Given the description of an element on the screen output the (x, y) to click on. 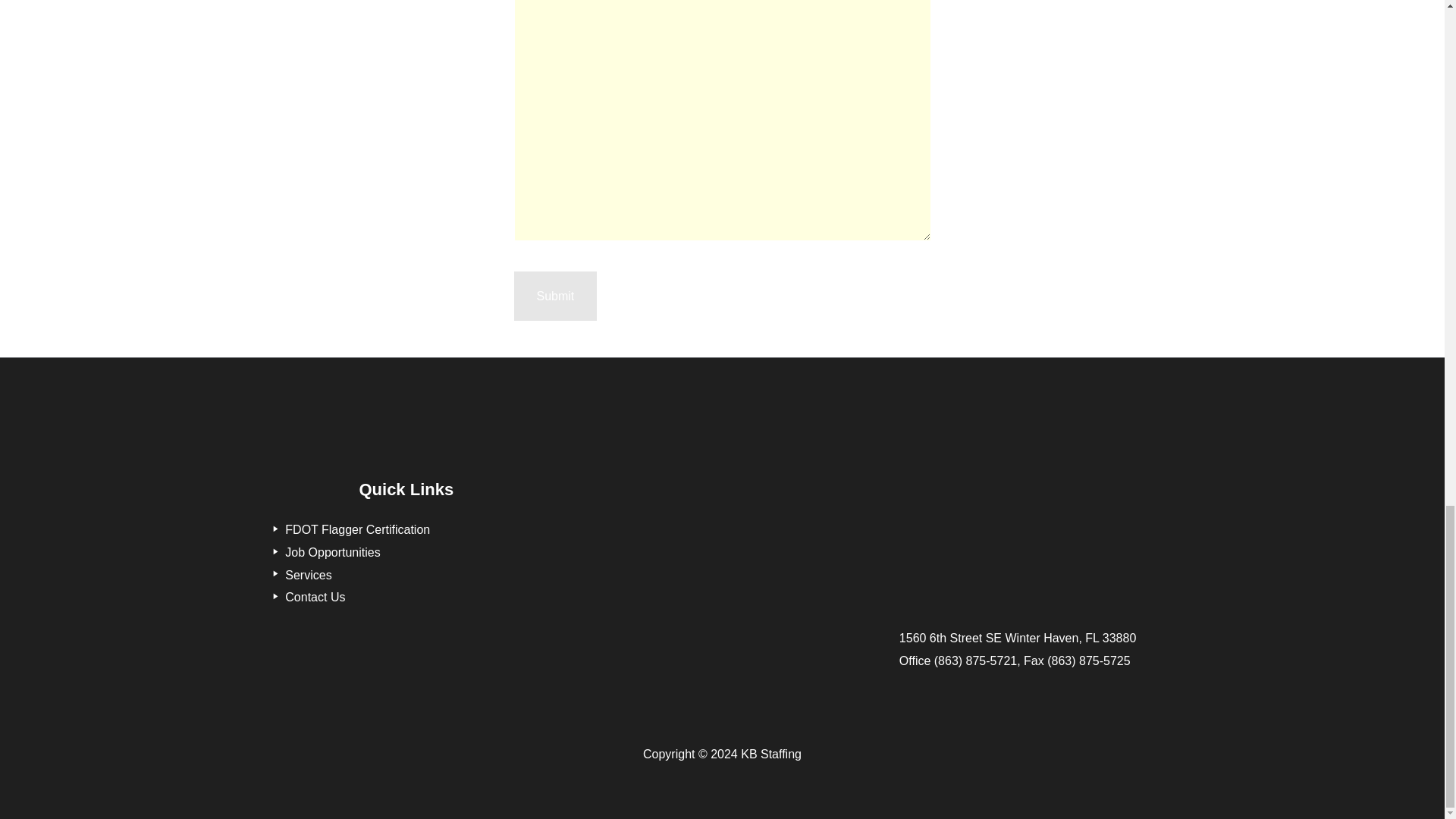
Job Opportunities (323, 552)
Submit (554, 296)
Submit (554, 296)
FDOT Flagger Certification (347, 529)
Contact Us (305, 596)
Services (298, 574)
